Given the description of an element on the screen output the (x, y) to click on. 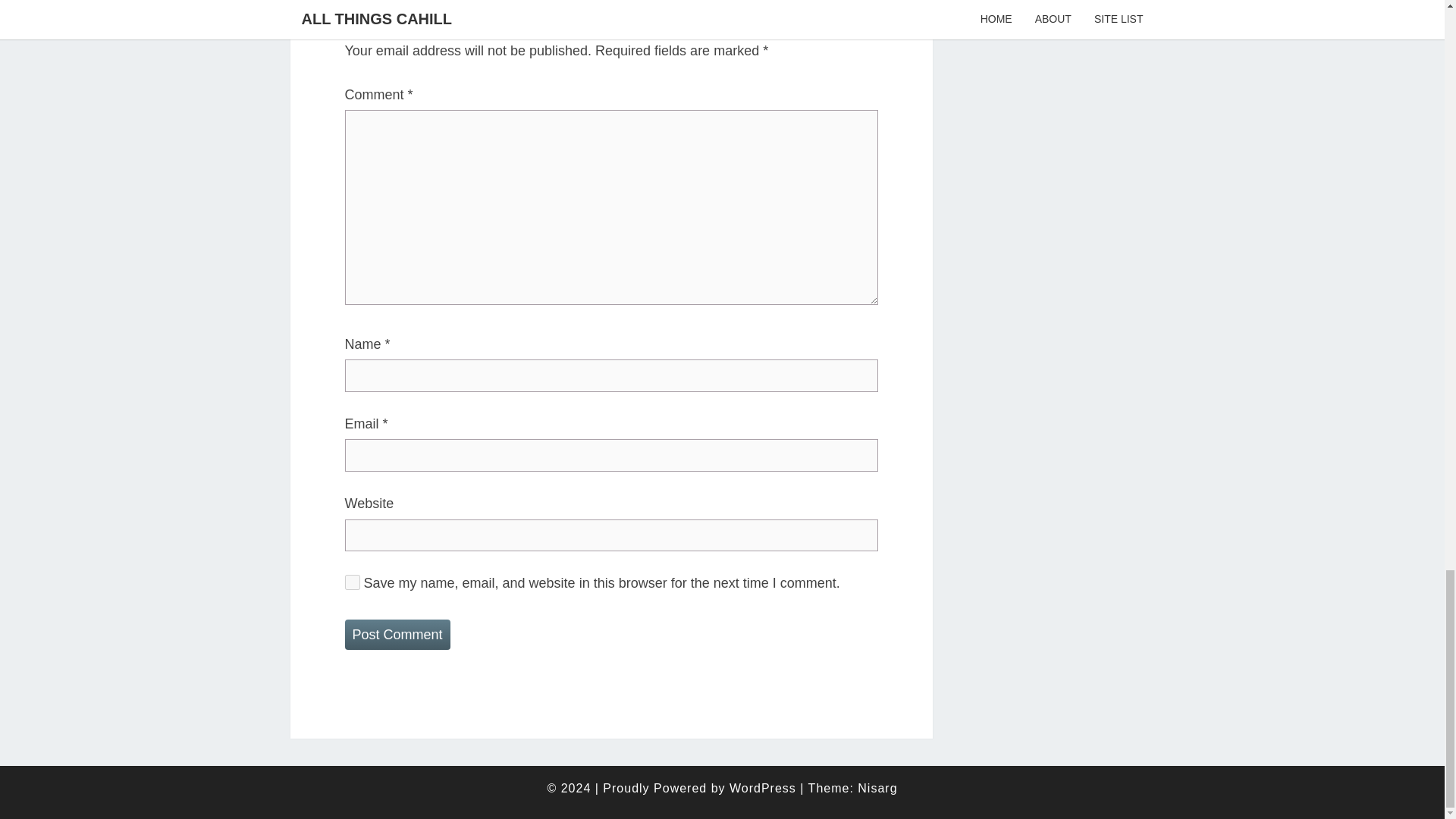
Post Comment (396, 634)
Nisarg (876, 788)
Post Comment (396, 634)
yes (351, 581)
WordPress (762, 788)
